Given the description of an element on the screen output the (x, y) to click on. 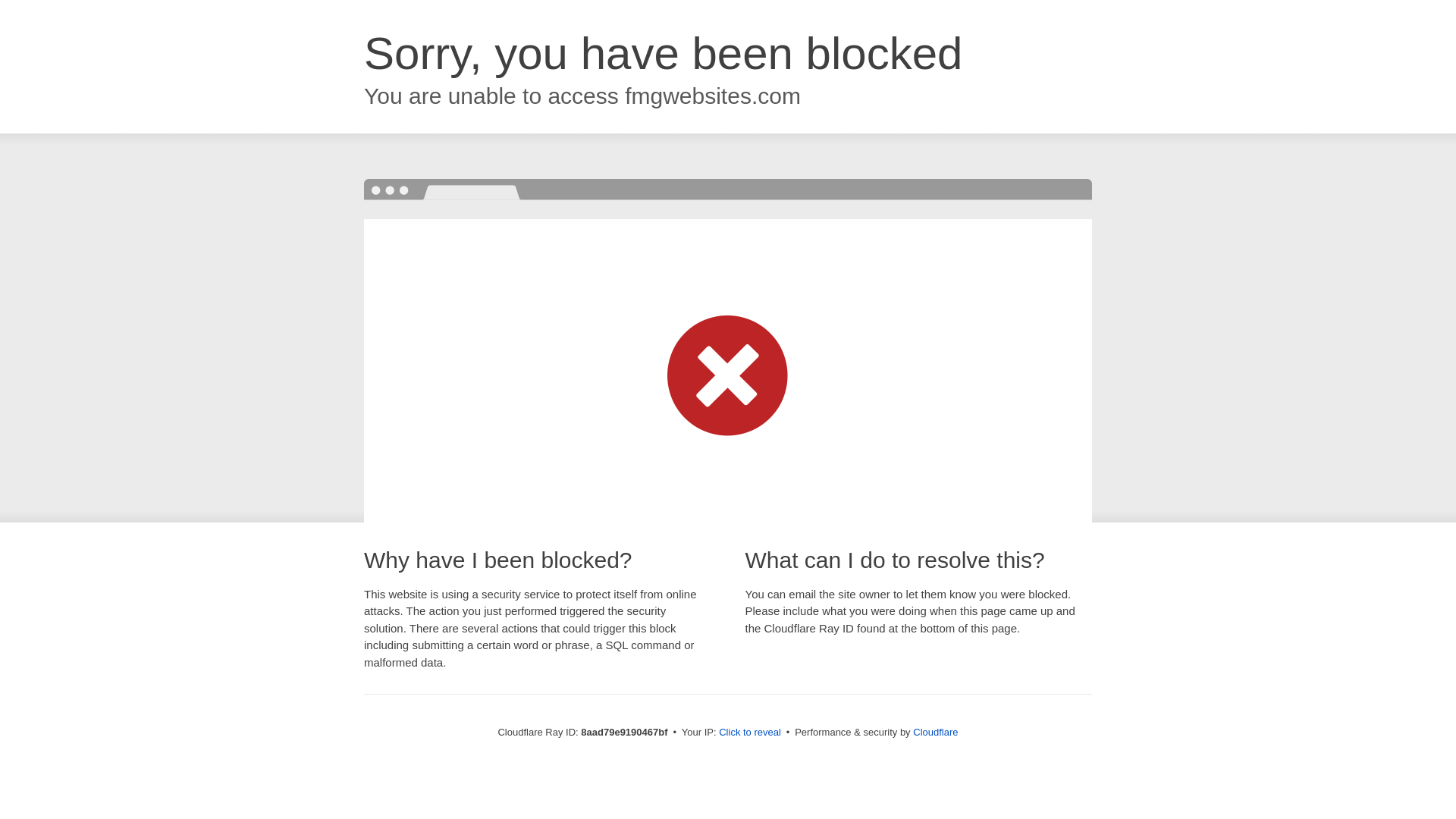
Cloudflare (935, 731)
Click to reveal (749, 732)
